Given the description of an element on the screen output the (x, y) to click on. 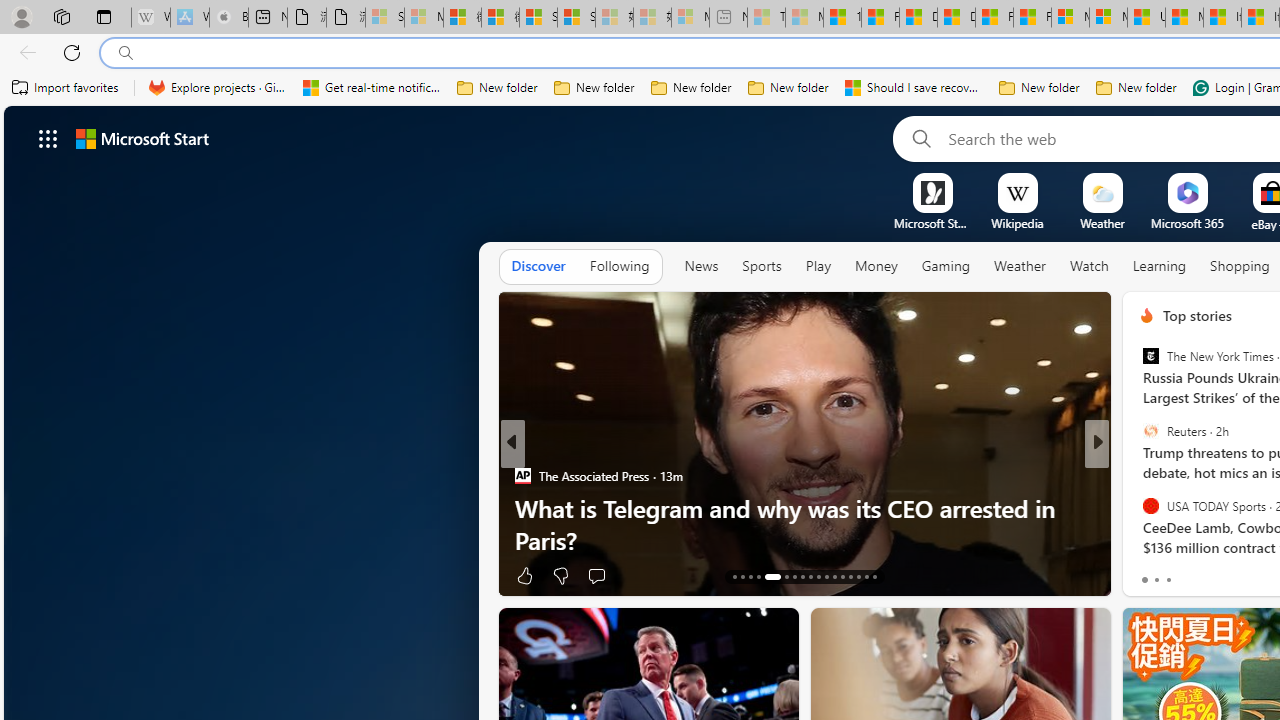
AutomationID: tab-32 (865, 576)
View comments 14 Comment (1244, 574)
tab-0 (1143, 579)
Sports (761, 267)
Hey She Thrives (1138, 507)
Microsoft start (142, 138)
Climate Crisis 247 (1138, 475)
IT Concept (1158, 507)
AutomationID: tab-14 (742, 576)
Wikipedia - Sleeping (150, 17)
113 Like (1151, 574)
20 Like (1149, 574)
View comments 66 Comment (1244, 574)
